Given the description of an element on the screen output the (x, y) to click on. 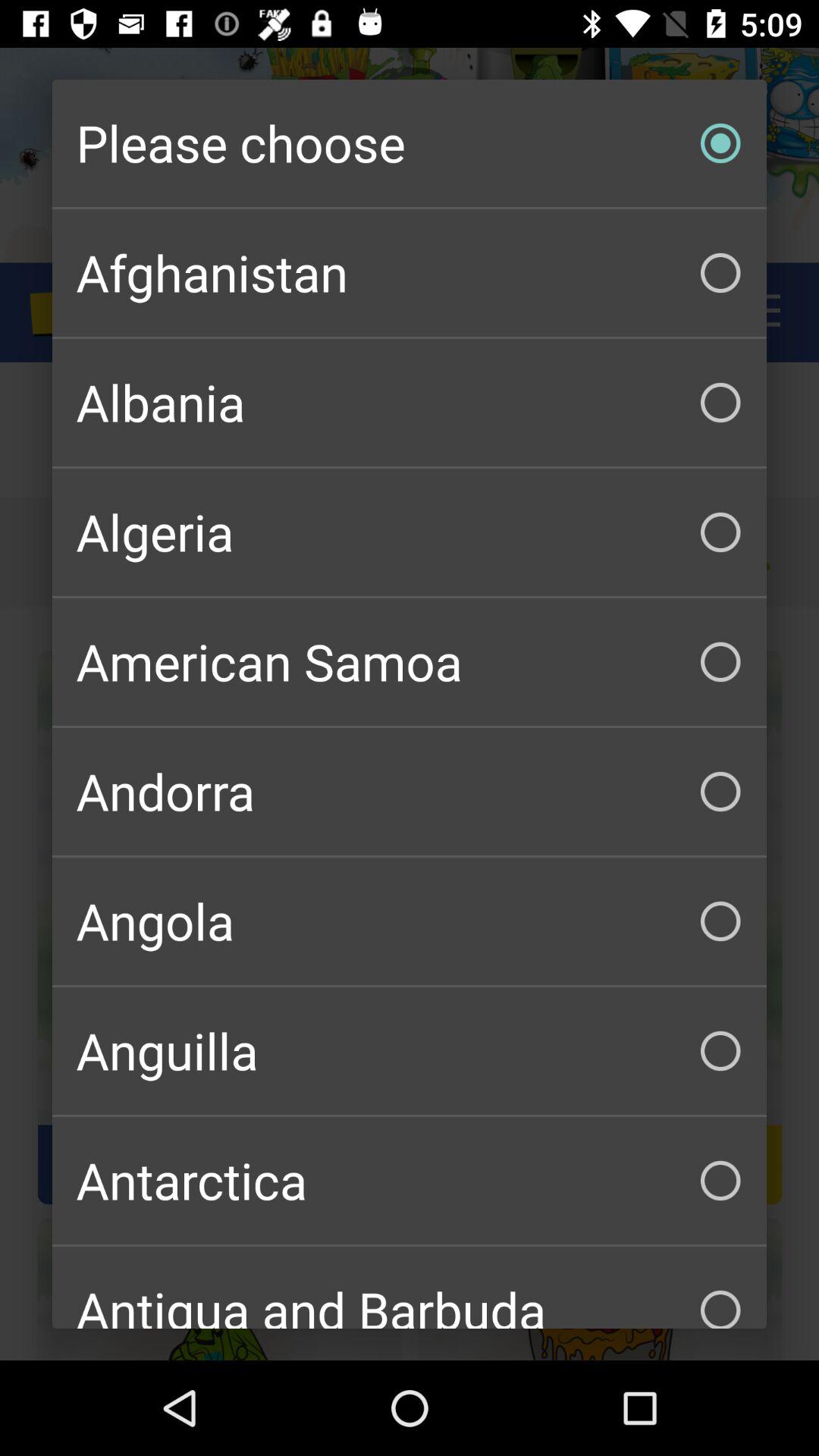
flip to andorra checkbox (409, 791)
